Given the description of an element on the screen output the (x, y) to click on. 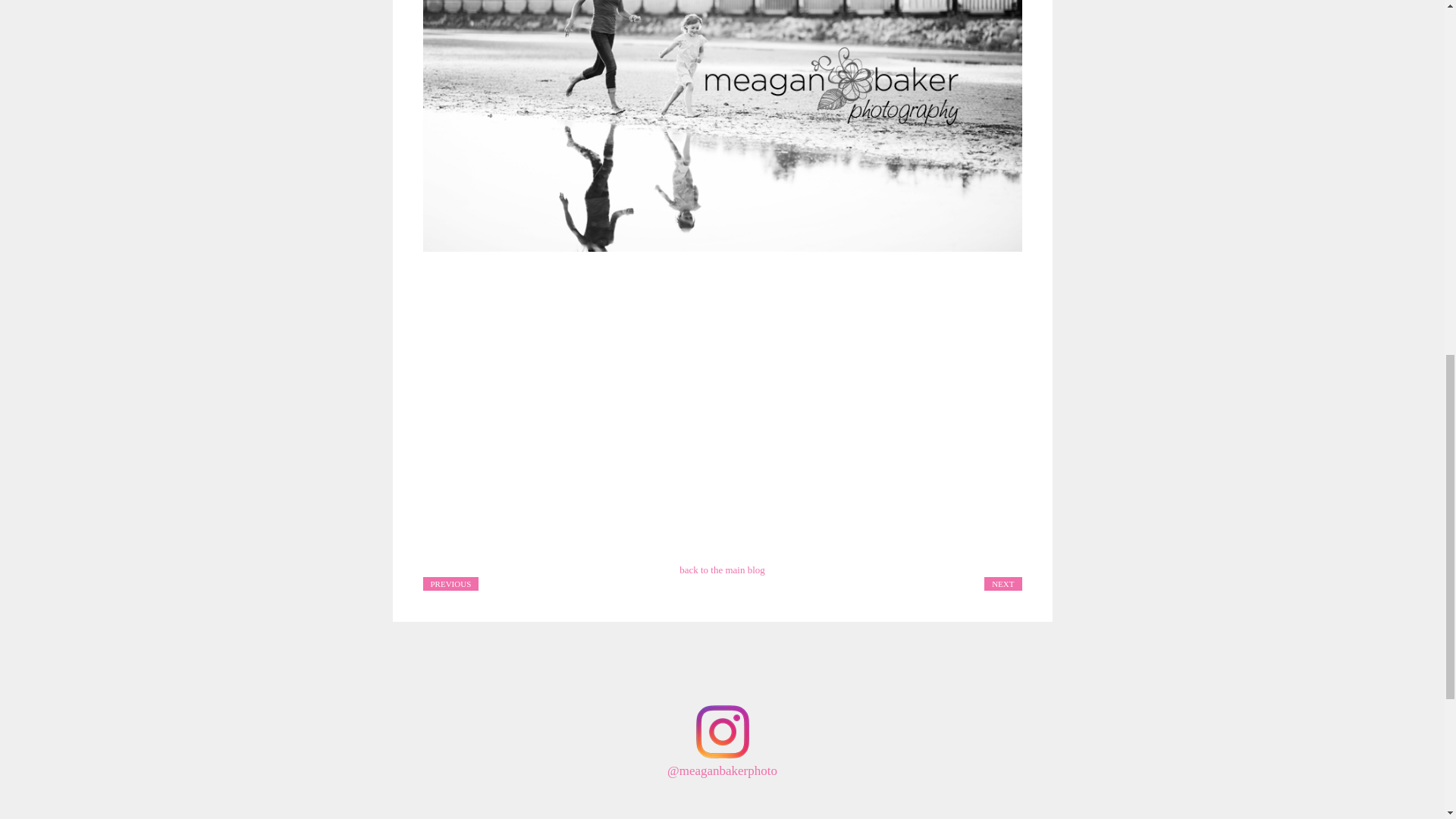
PREVIOUS (451, 582)
NEXT (1003, 582)
back to the main blog (722, 569)
